Given the description of an element on the screen output the (x, y) to click on. 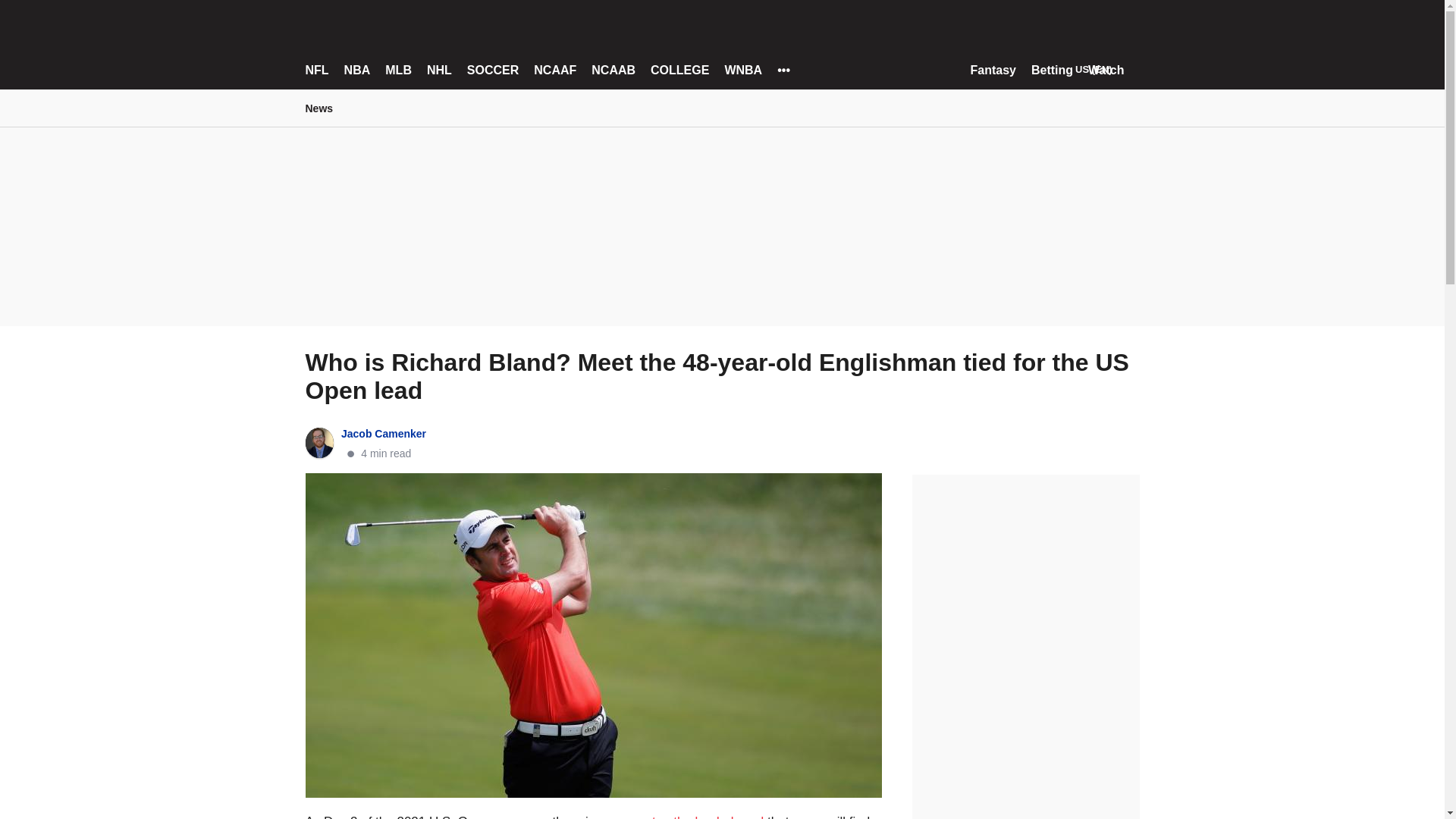
NCAAF (555, 70)
NCAAB (612, 70)
WNBA (742, 70)
COLLEGE (679, 70)
SOCCER (492, 70)
